Given the description of an element on the screen output the (x, y) to click on. 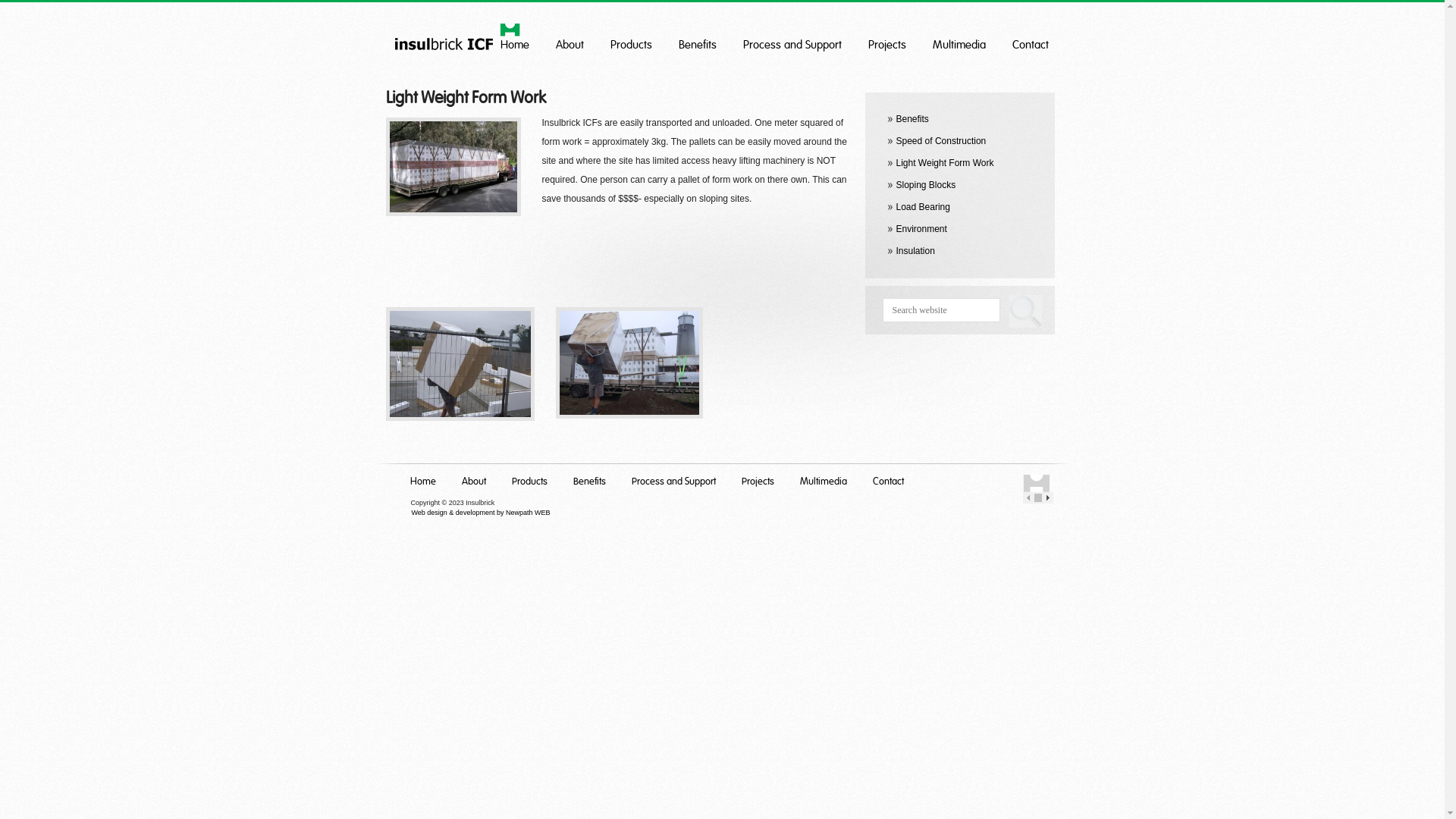
Environment Element type: text (921, 228)
Multimedia Element type: text (823, 478)
About Element type: text (473, 478)
Projects Element type: text (886, 40)
Benefits Element type: text (912, 118)
Benefits Element type: text (696, 40)
Products Element type: text (630, 40)
Products Element type: text (529, 478)
Home Element type: text (514, 40)
Web design & development by Newpath WEB Element type: text (480, 512)
Insulbrick Home Element type: hover (1035, 483)
OLYMPUS DIGITAL CAMERA Element type: hover (452, 166)
Home Element type: text (422, 478)
Light Weight Form Work Element type: text (945, 162)
Contact Element type: text (1029, 40)
Load Bearing Element type: text (923, 206)
Contact Element type: text (887, 478)
Benefits Element type: text (588, 478)
Process and Support Element type: text (792, 40)
023 Element type: hover (628, 362)
Sloping Blocks Element type: text (926, 184)
About Element type: text (569, 40)
Multimedia Element type: text (958, 40)
024 Element type: hover (459, 363)
Projects Element type: text (757, 478)
Speed of Construction Element type: text (941, 140)
Process and Support Element type: text (673, 478)
Insulation Element type: text (915, 250)
